Given the description of an element on the screen output the (x, y) to click on. 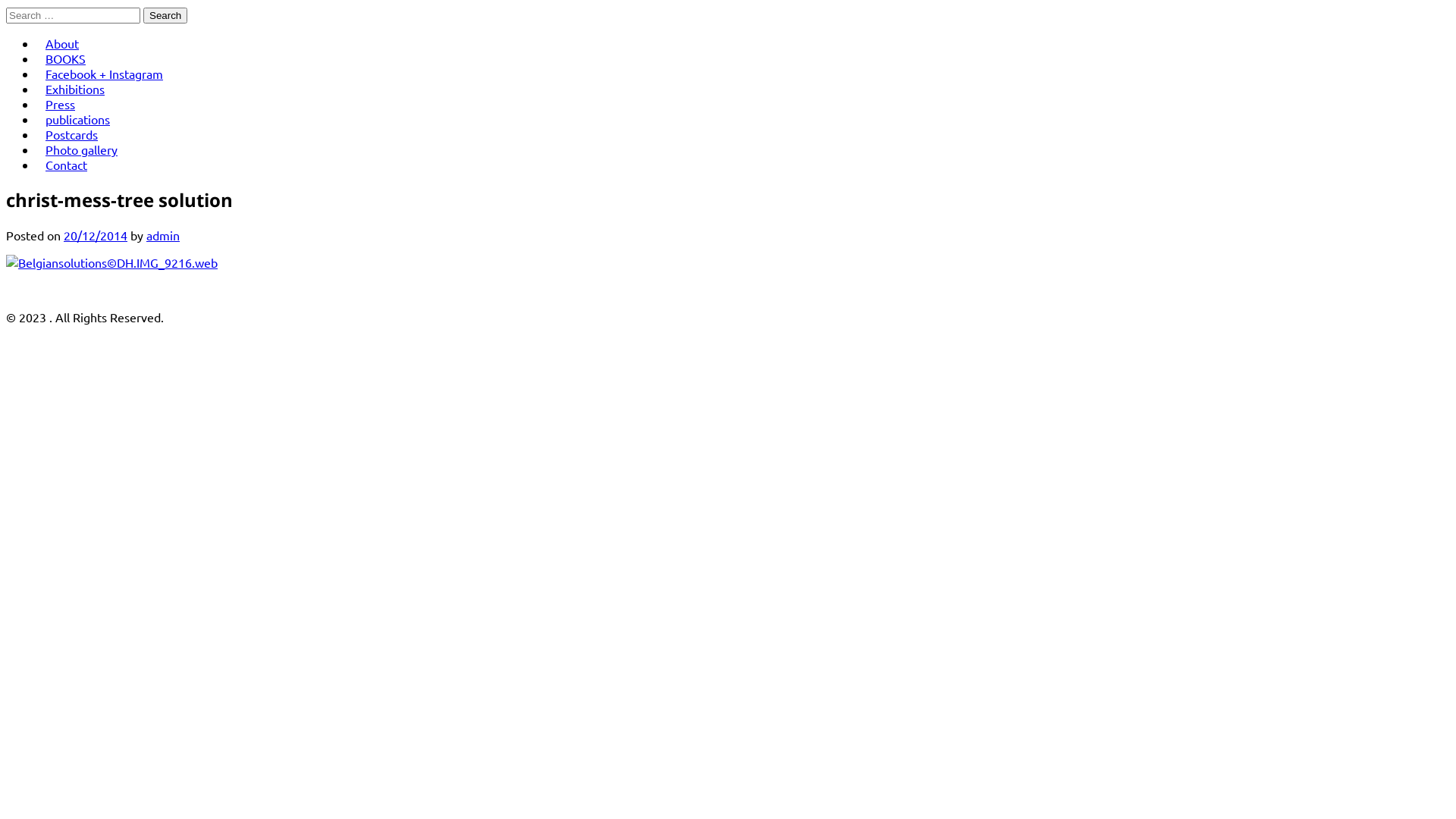
publications Element type: text (77, 118)
About Element type: text (61, 42)
Exhibitions Element type: text (74, 88)
BOOKS Element type: text (65, 58)
Postcards Element type: text (71, 133)
Facebook + Instagram Element type: text (104, 73)
Skip to content Element type: text (5, 5)
Photo gallery Element type: text (81, 149)
Search Element type: text (165, 15)
Press Element type: text (60, 103)
Contact Element type: text (66, 164)
admin Element type: text (162, 234)
20/12/2014 Element type: text (95, 234)
